Given the description of an element on the screen output the (x, y) to click on. 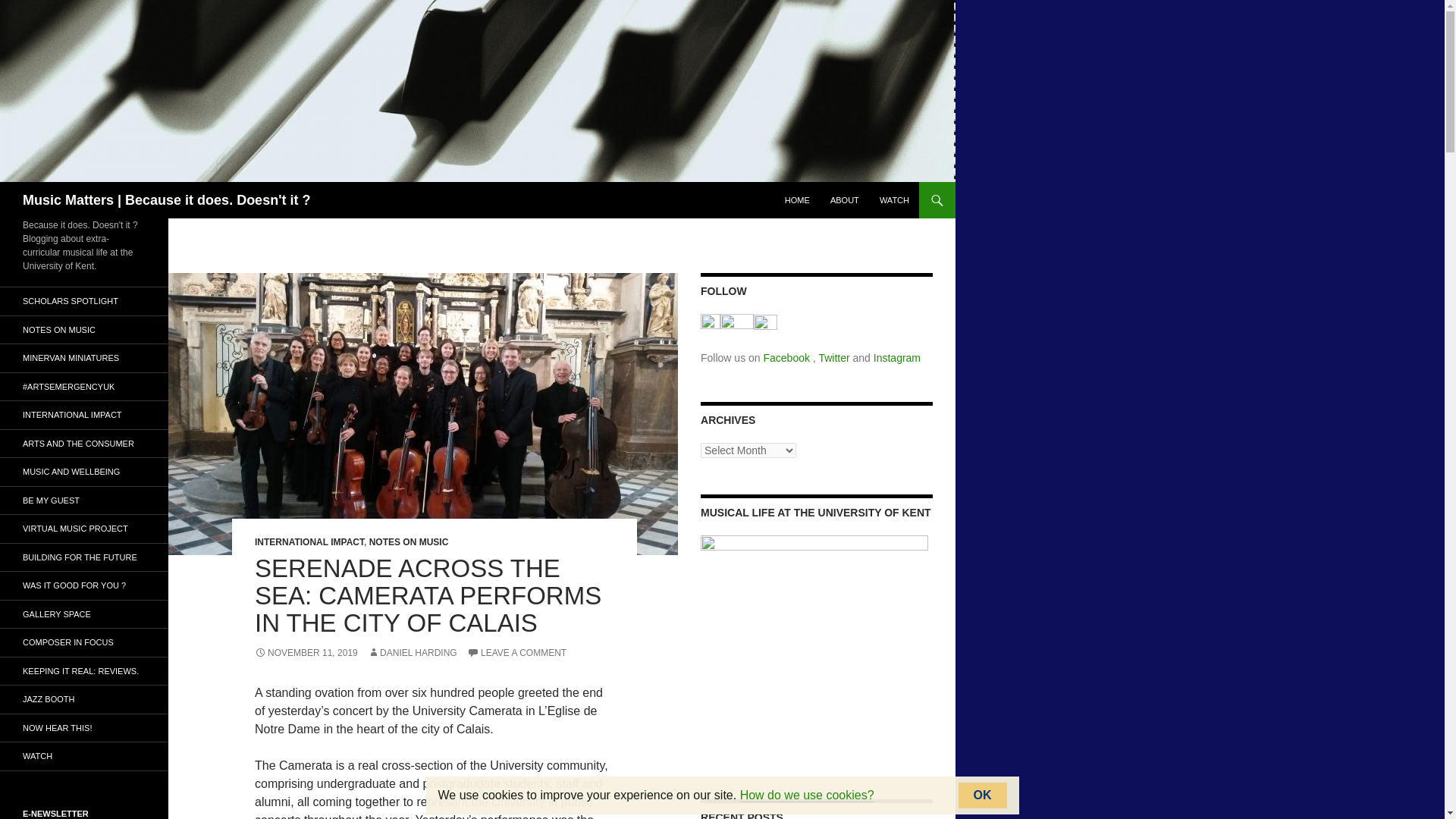
Spotlight on particular composers (84, 642)
DANIEL HARDING (412, 652)
Twitter (834, 357)
INTERNATIONAL IMPACT (309, 542)
What does it mean for us ? (84, 443)
NOTES ON MUSIC (408, 542)
Guest posts and articles (84, 500)
The new Colyer-Fergusson centre for Music Performance (84, 556)
HOME (797, 199)
